Given the description of an element on the screen output the (x, y) to click on. 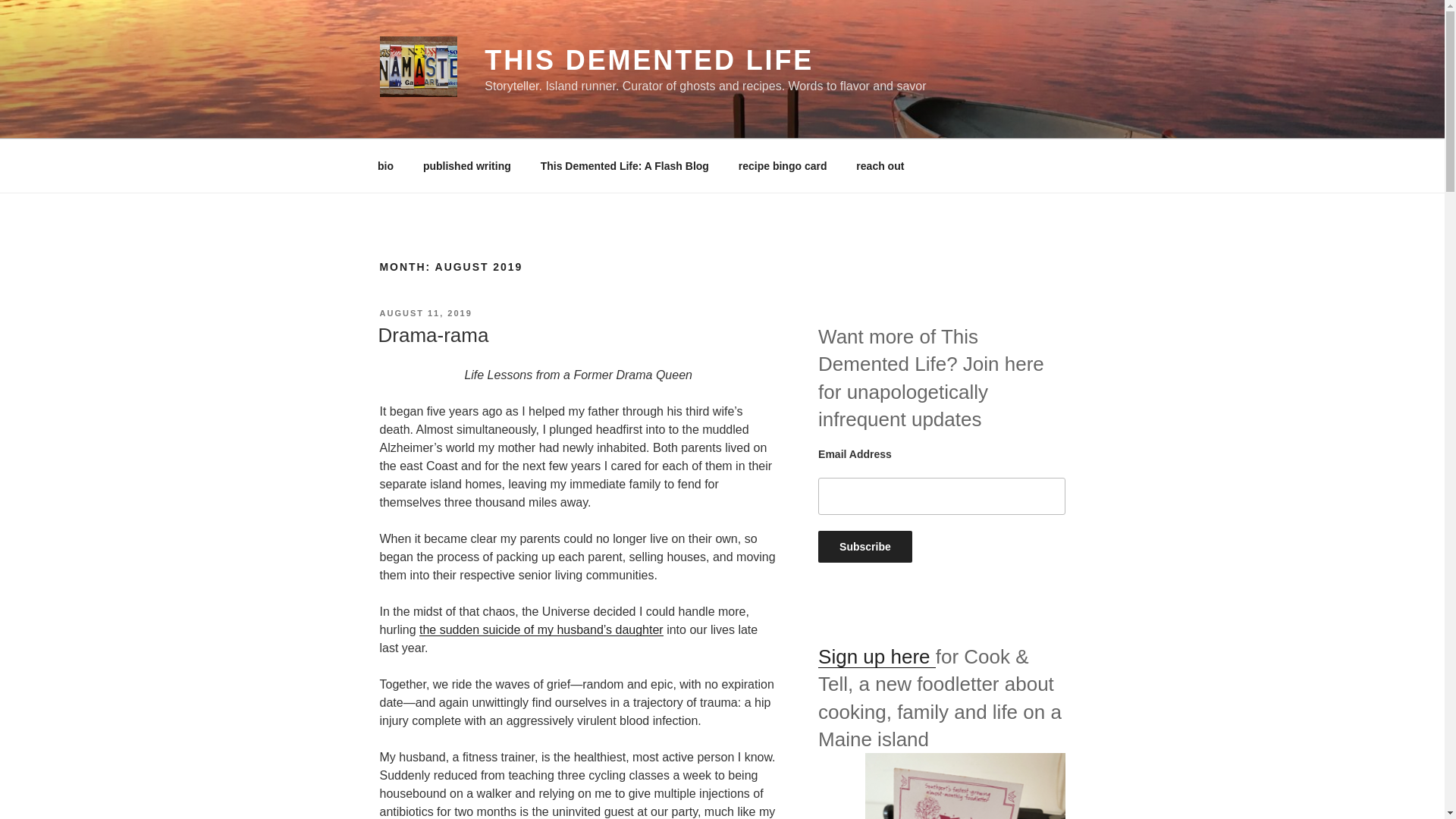
AUGUST 11, 2019 (424, 312)
THIS DEMENTED LIFE (648, 60)
This Demented Life: A Flash Blog (624, 165)
Sign up here (877, 656)
reach out (880, 165)
Subscribe (865, 546)
Drama-rama (432, 334)
recipe bingo card (782, 165)
published writing (466, 165)
bio (385, 165)
Subscribe (865, 546)
